Given the description of an element on the screen output the (x, y) to click on. 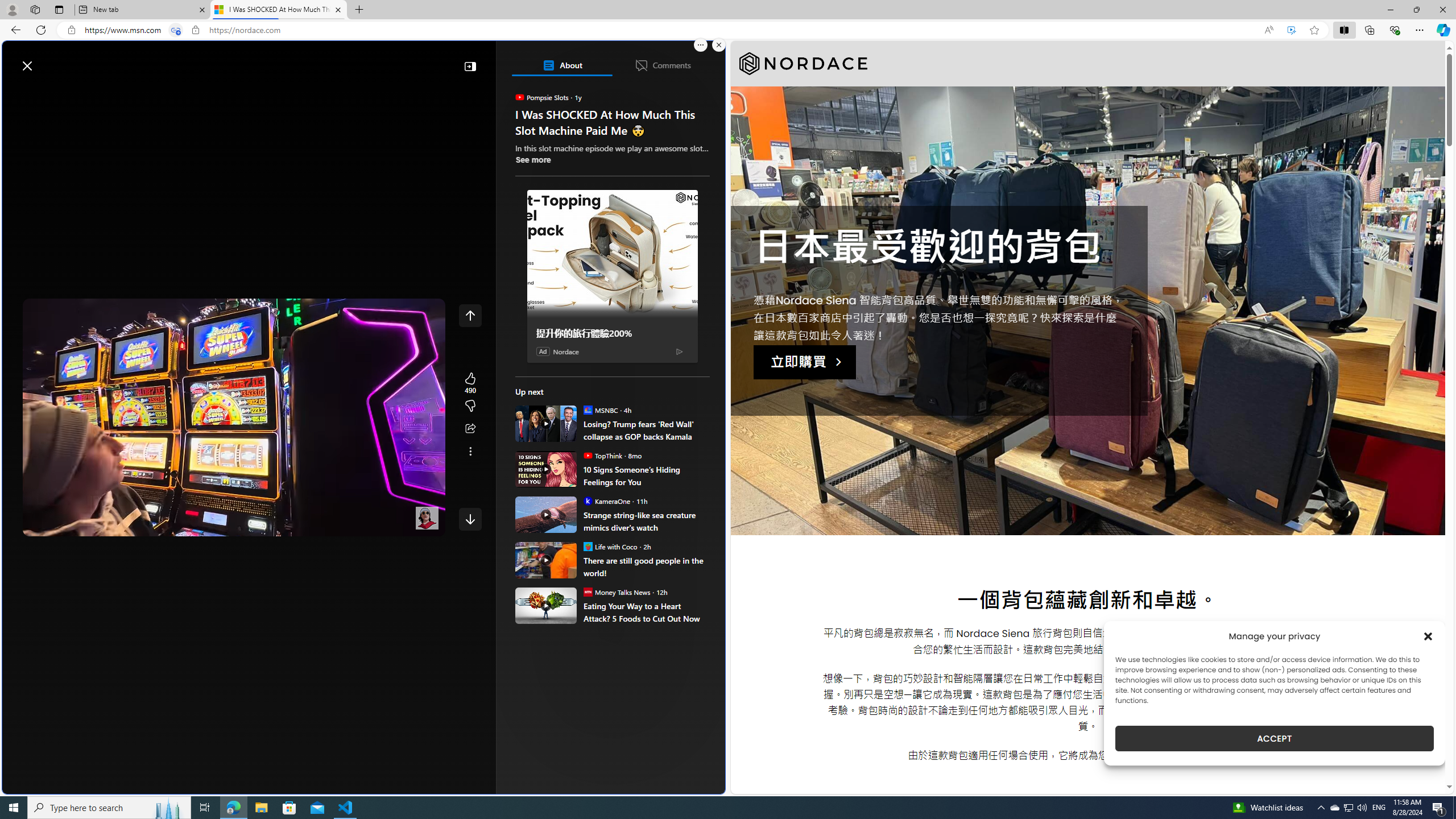
Channel watermark (427, 517)
More like this490Fewer like this (469, 394)
Full screen (f) (427, 525)
Class: button-glyph (16, 92)
Watch on YouTube (396, 525)
